Given the description of an element on the screen output the (x, y) to click on. 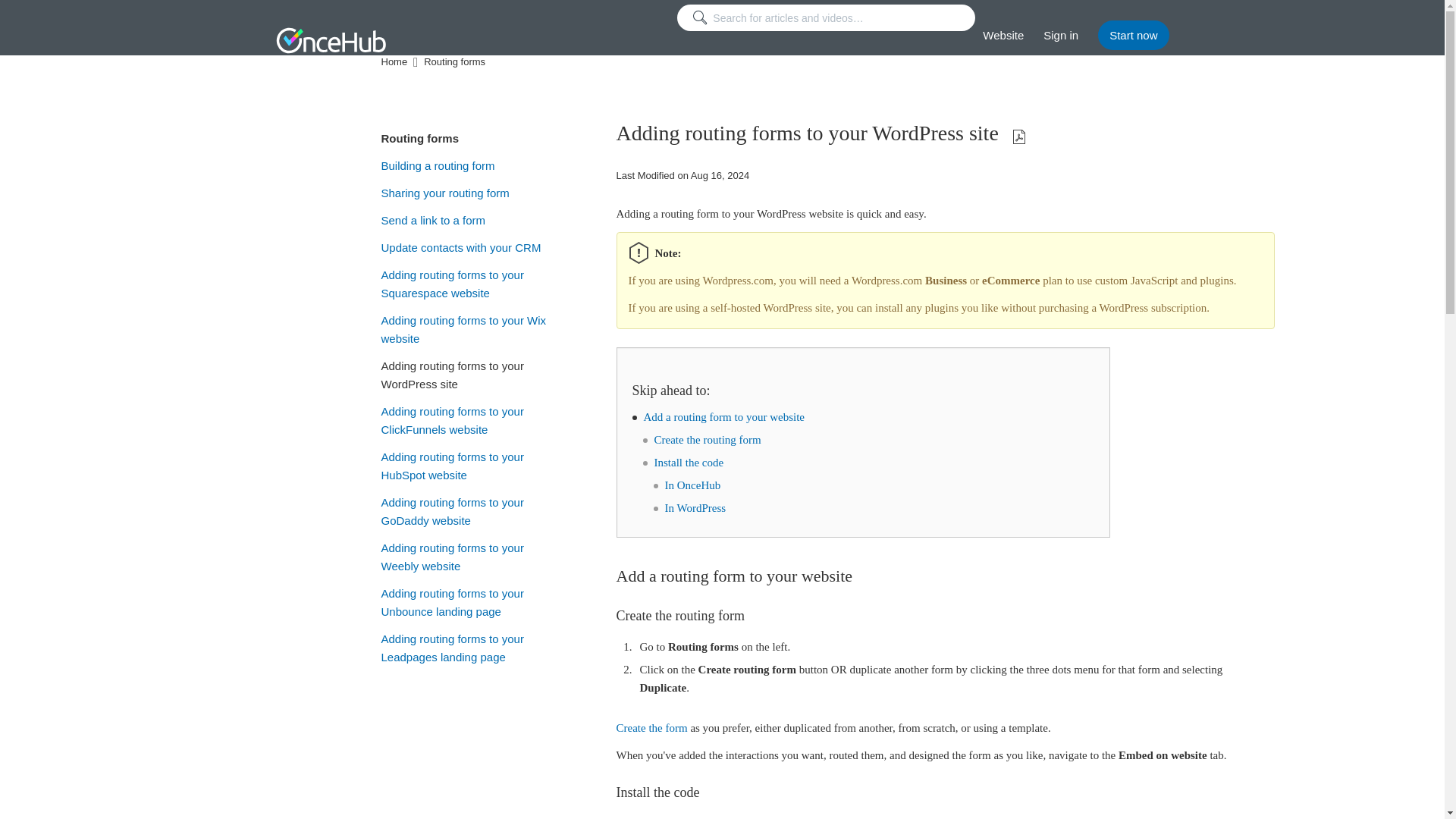
Download PDF (1018, 136)
Start now (1133, 34)
Download PDF (1018, 137)
Sign in (1060, 35)
Search (826, 17)
Website (1002, 35)
Routing forms (455, 61)
